Given the description of an element on the screen output the (x, y) to click on. 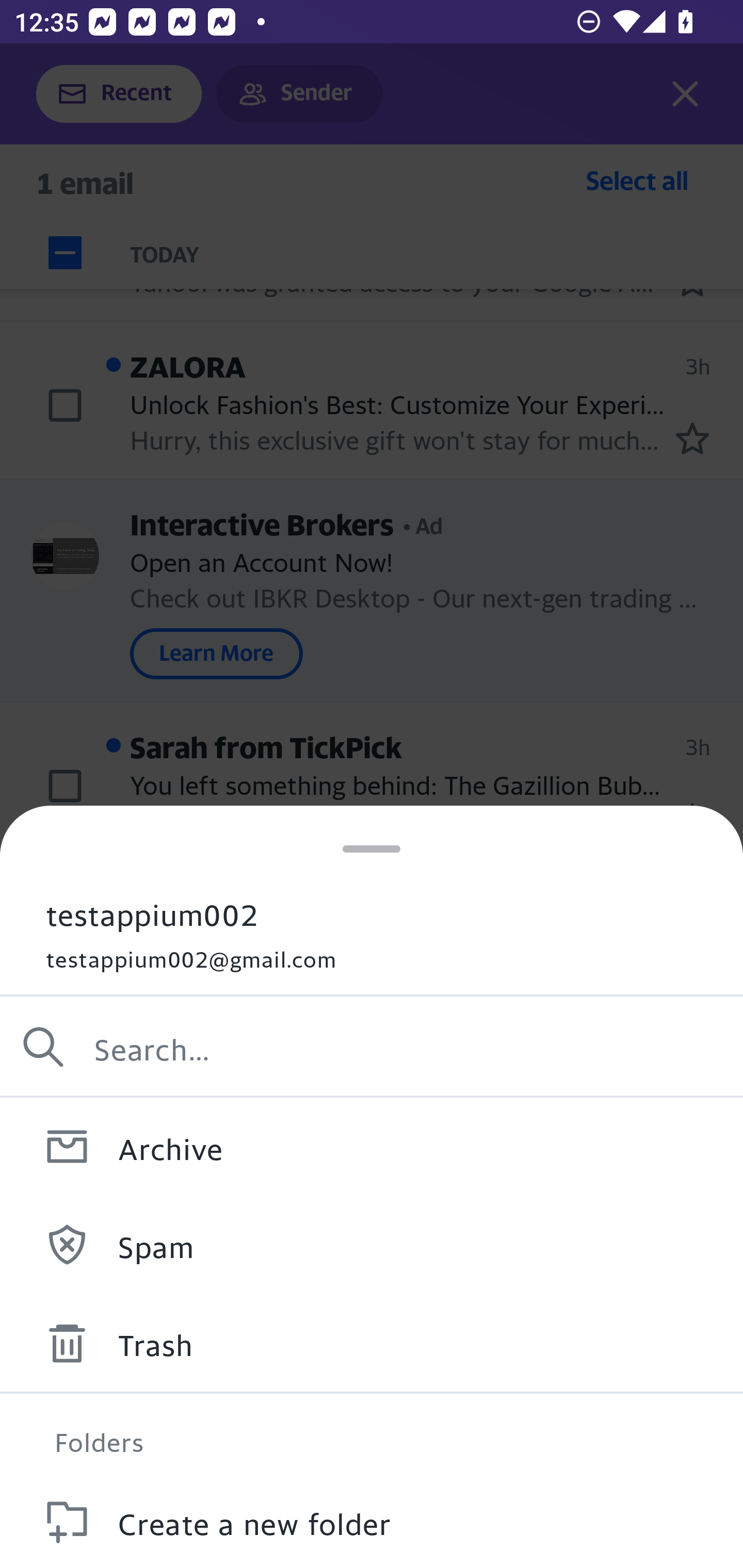
Search… (371, 1047)
Archive (371, 1145)
Spam (371, 1243)
Trash (371, 1342)
Create a new folder (371, 1520)
